Given the description of an element on the screen output the (x, y) to click on. 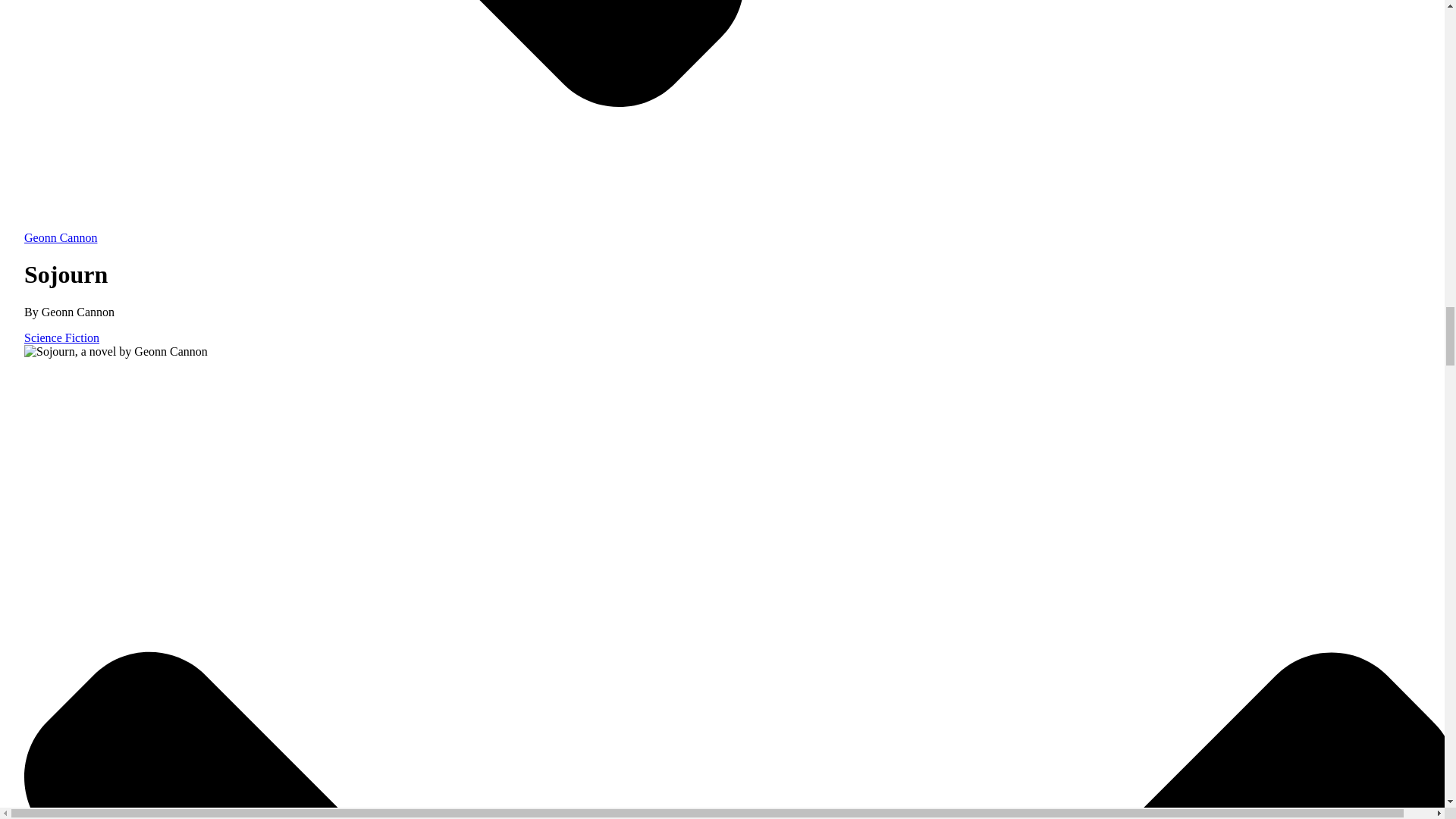
Geonn Cannon (740, 230)
Science Fiction (61, 337)
